Given the description of an element on the screen output the (x, y) to click on. 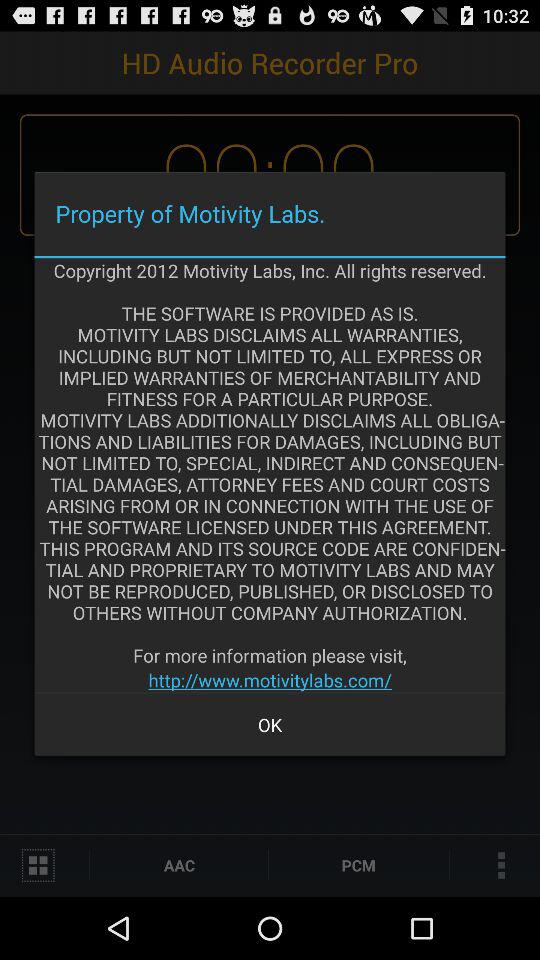
launch app below http www motivitylabs item (269, 724)
